Given the description of an element on the screen output the (x, y) to click on. 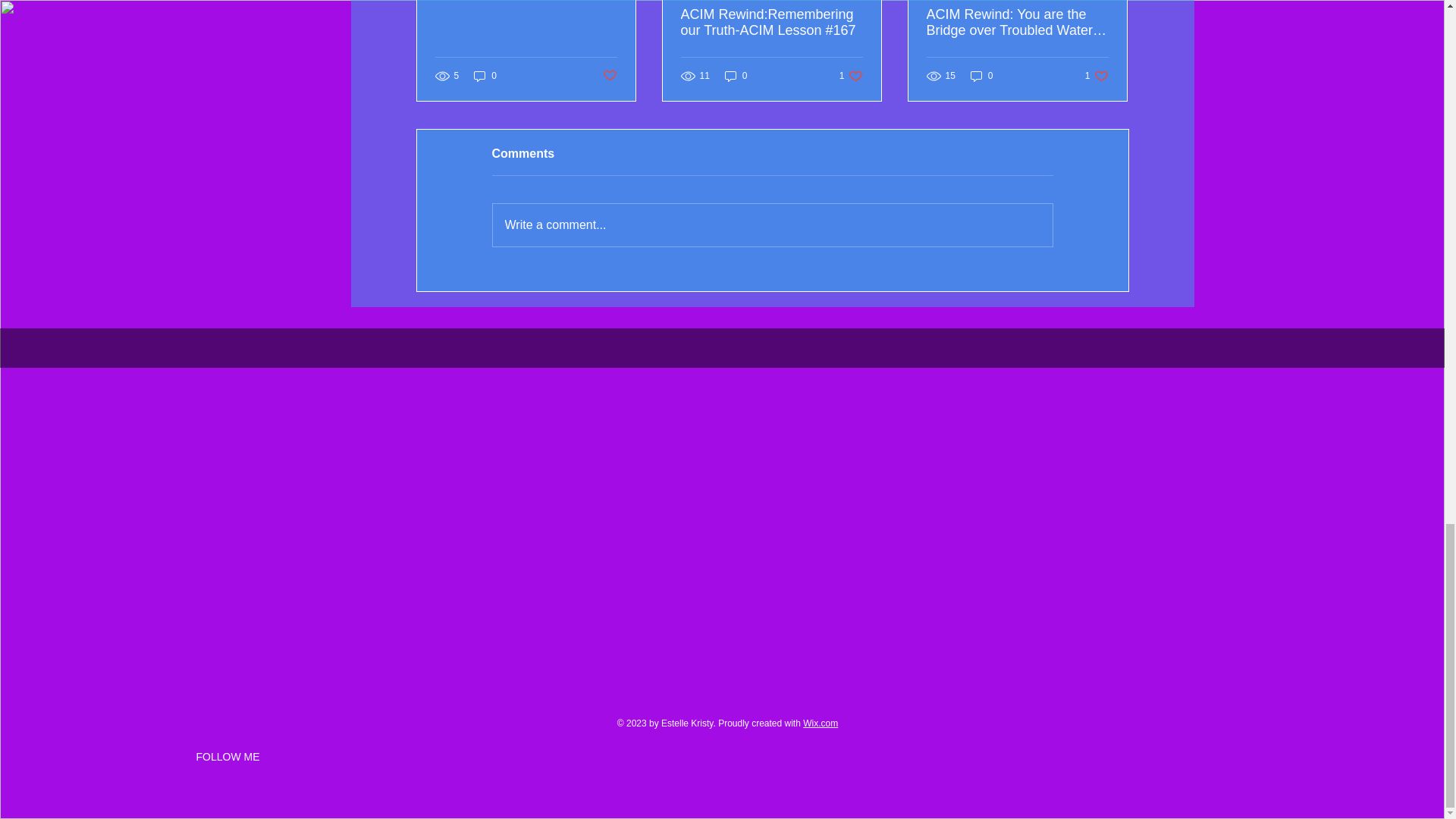
Write a comment... (772, 224)
Wix.com (820, 723)
0 (1096, 74)
0 (851, 74)
0 (736, 74)
Post not marked as liked (484, 74)
